Given the description of an element on the screen output the (x, y) to click on. 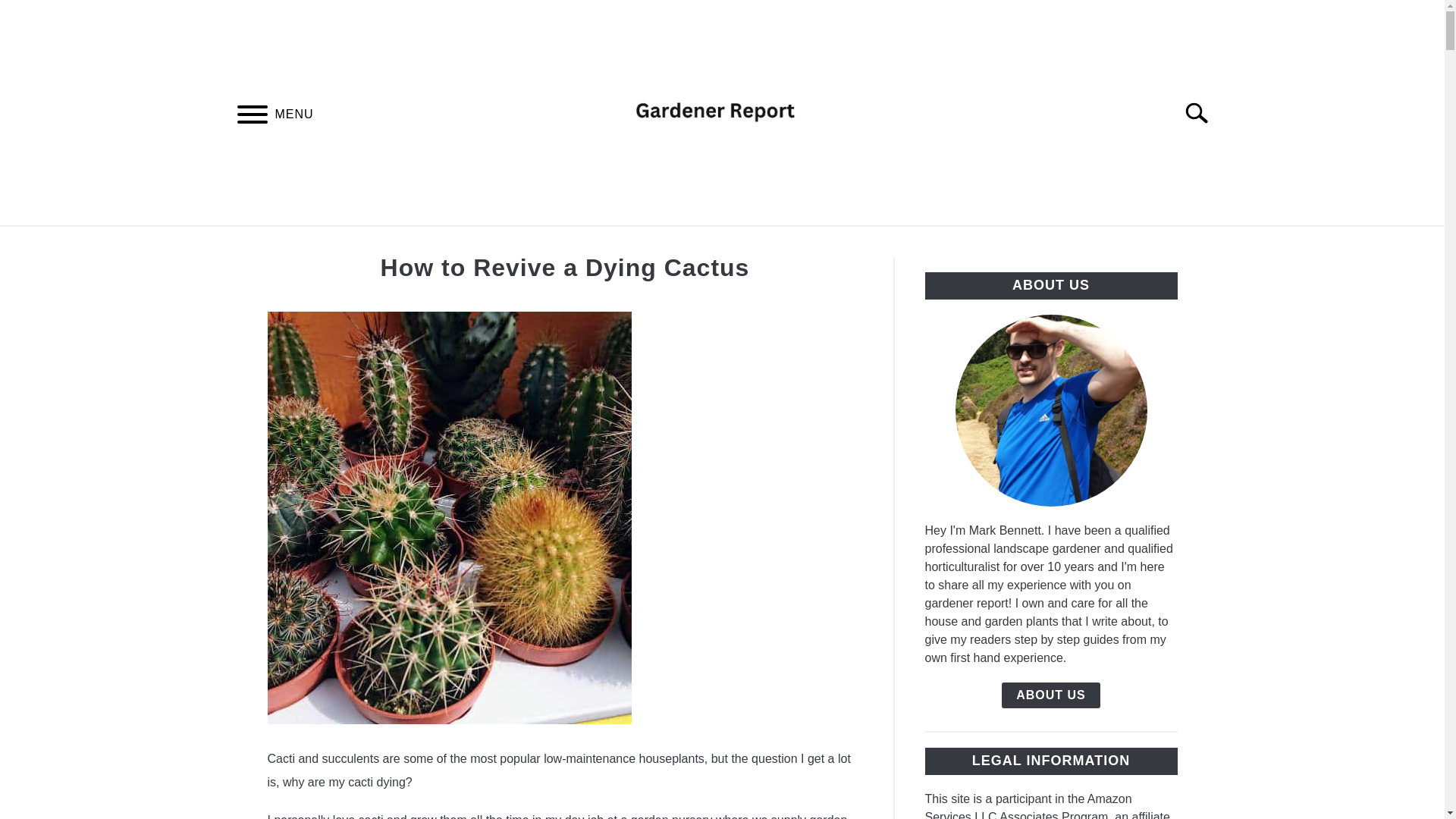
MENU (251, 116)
Search (1203, 112)
